Given the description of an element on the screen output the (x, y) to click on. 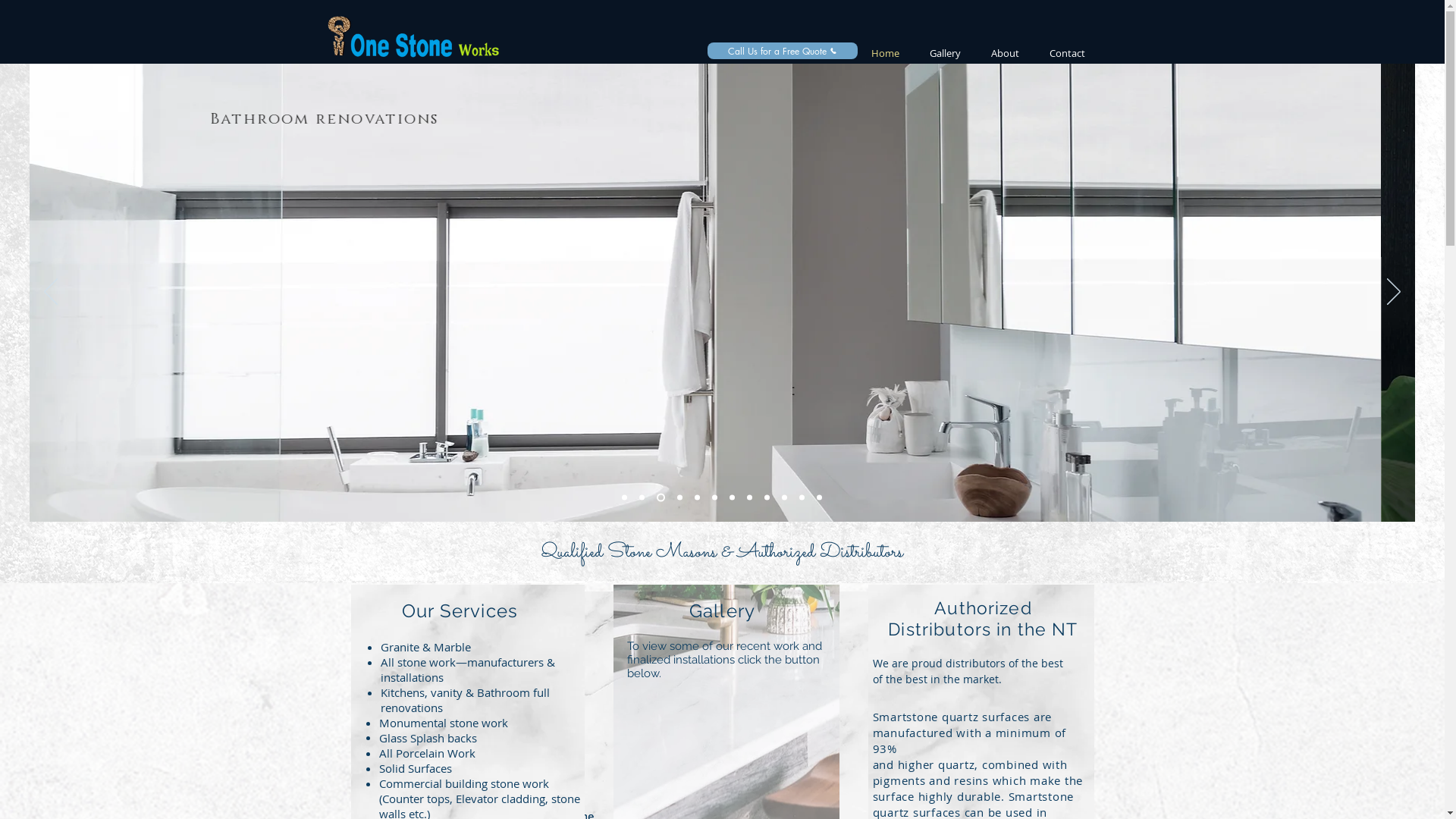
Call Us for a Free Quote Element type: text (781, 50)
Contact Element type: text (1067, 52)
About Element type: text (1004, 52)
Gallery Element type: text (944, 52)
Home Element type: text (884, 52)
